Given the description of an element on the screen output the (x, y) to click on. 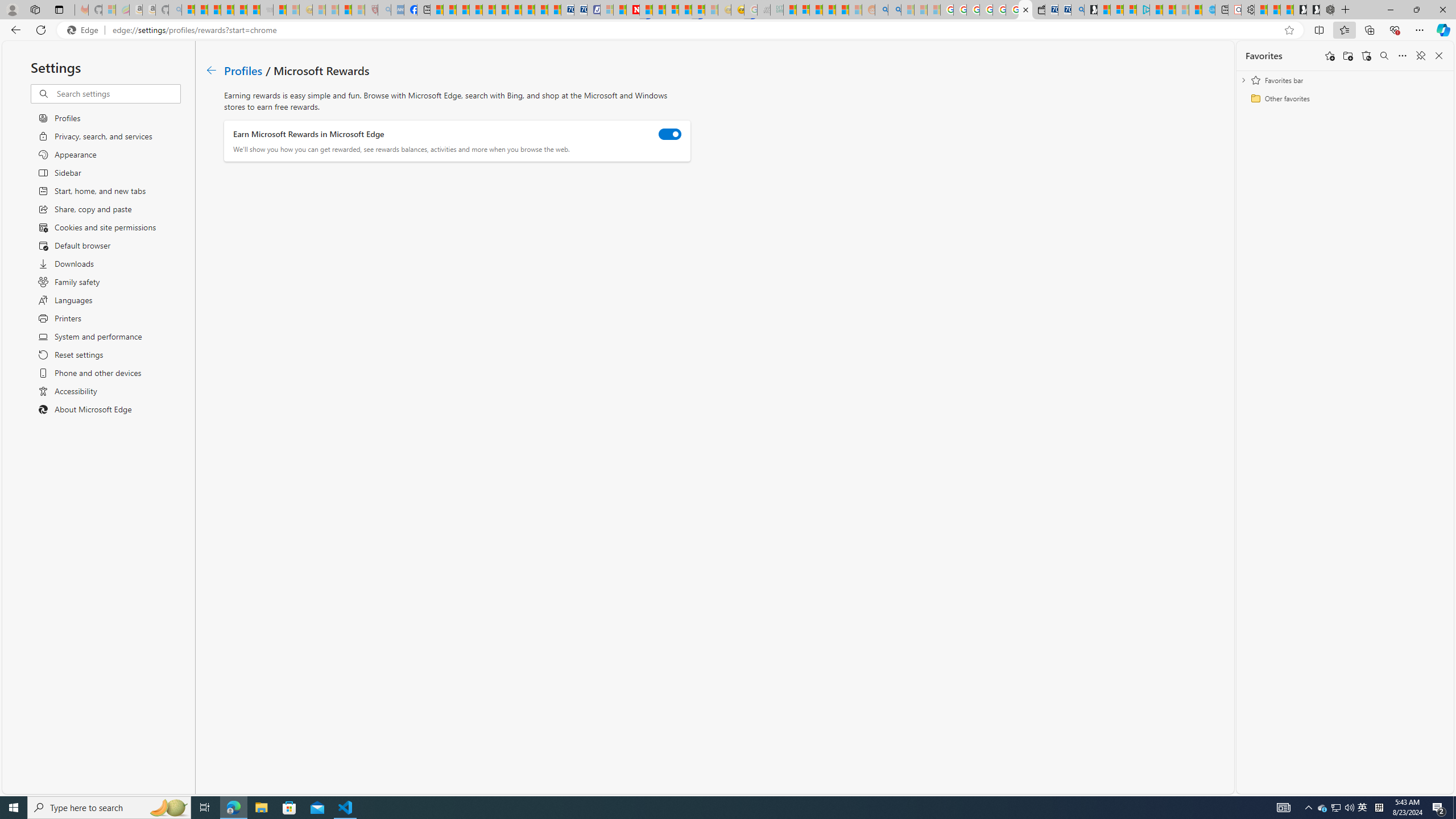
DITOGAMES AG Imprint - Sleeping (776, 9)
Microsoft Start Gaming (1090, 9)
Earn Microsoft Rewards in Microsoft Edge (669, 134)
Recipes - MSN - Sleeping (318, 9)
World - MSN (462, 9)
14 Common Myths Debunked By Scientific Facts (659, 9)
Play Free Online Games | Games from Microsoft Start (1312, 9)
Add this page to favorites (1330, 55)
